Given the description of an element on the screen output the (x, y) to click on. 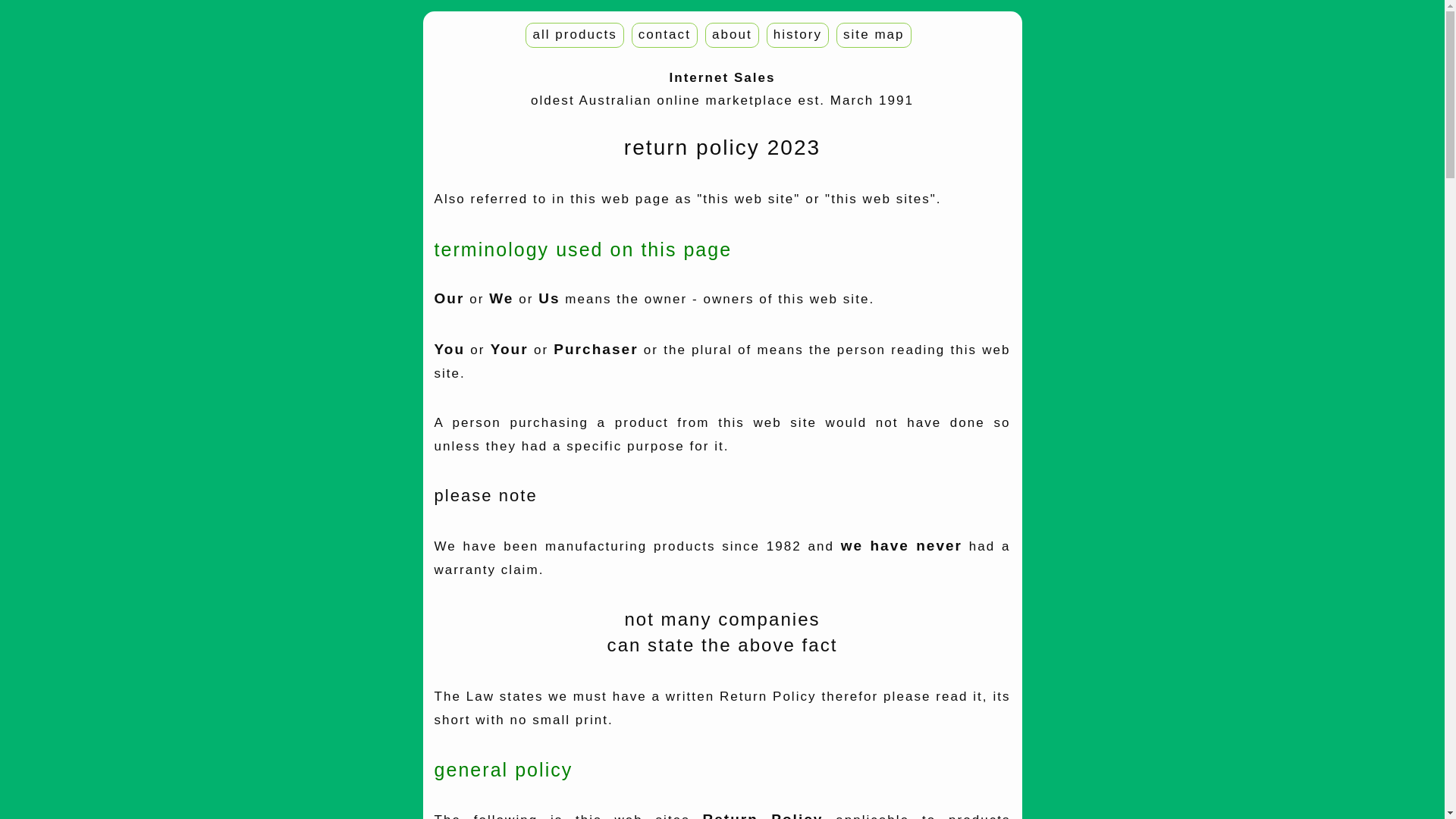
all products Element type: text (574, 34)
about Element type: text (732, 34)
site map Element type: text (873, 34)
history Element type: text (797, 34)
contact Element type: text (664, 34)
